Given the description of an element on the screen output the (x, y) to click on. 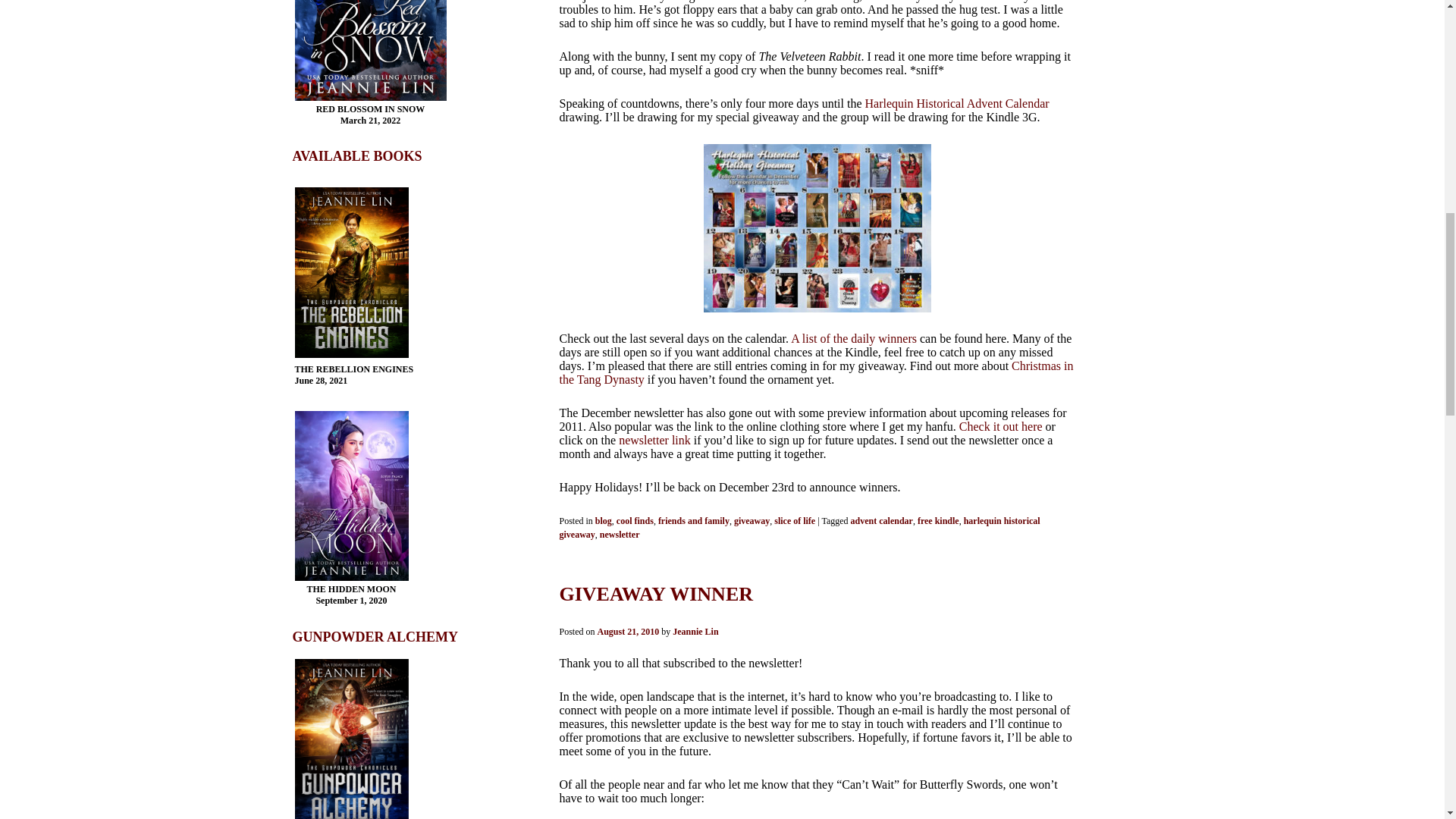
View all posts by Jeannie Lin (694, 631)
6:19 am (627, 631)
Permalink to Giveaway winner (656, 594)
